Given the description of an element on the screen output the (x, y) to click on. 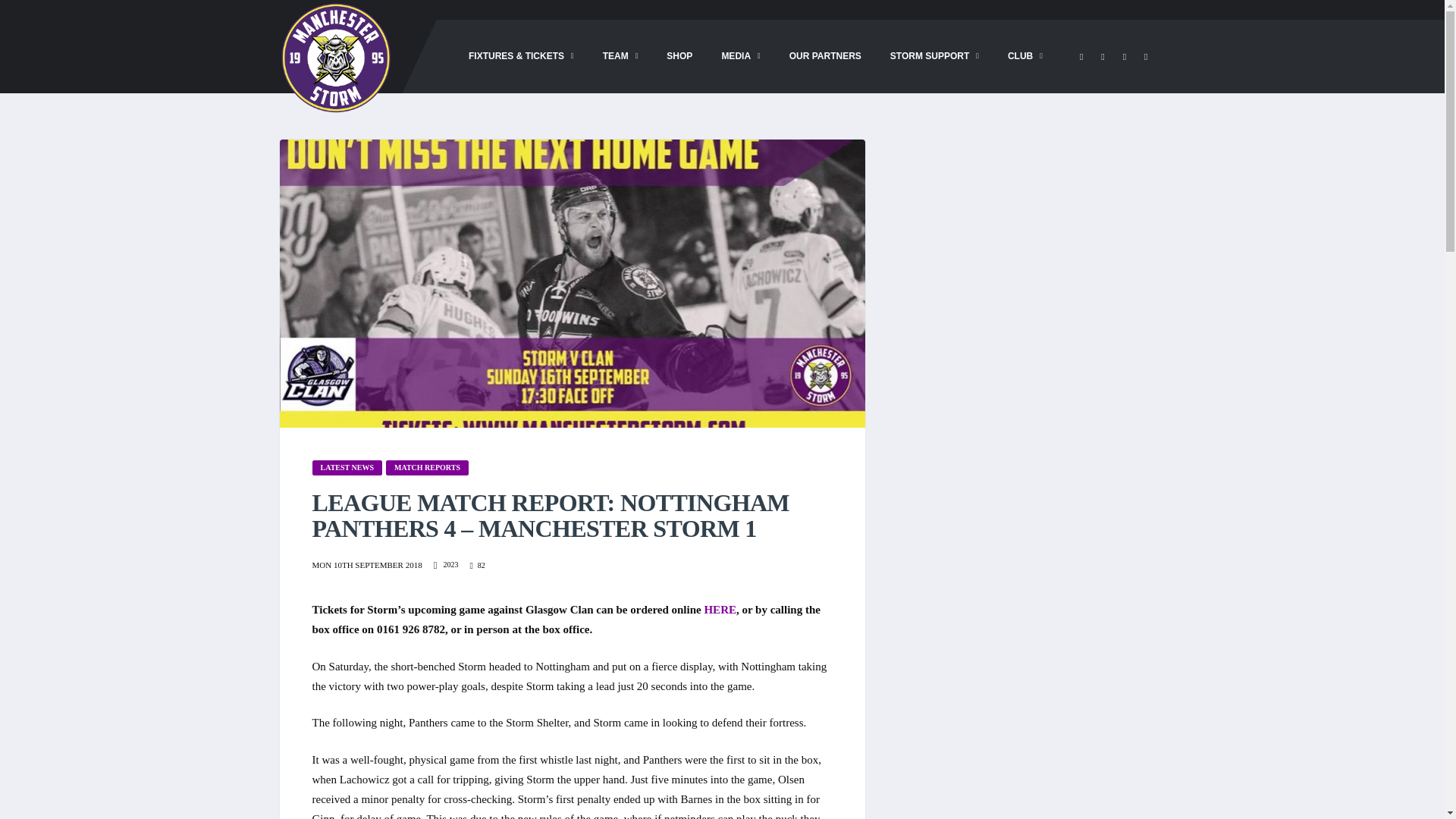
MEDIA (740, 56)
OUR PARTNERS (825, 56)
STORM SUPPORT (934, 56)
Like (476, 565)
